Given the description of an element on the screen output the (x, y) to click on. 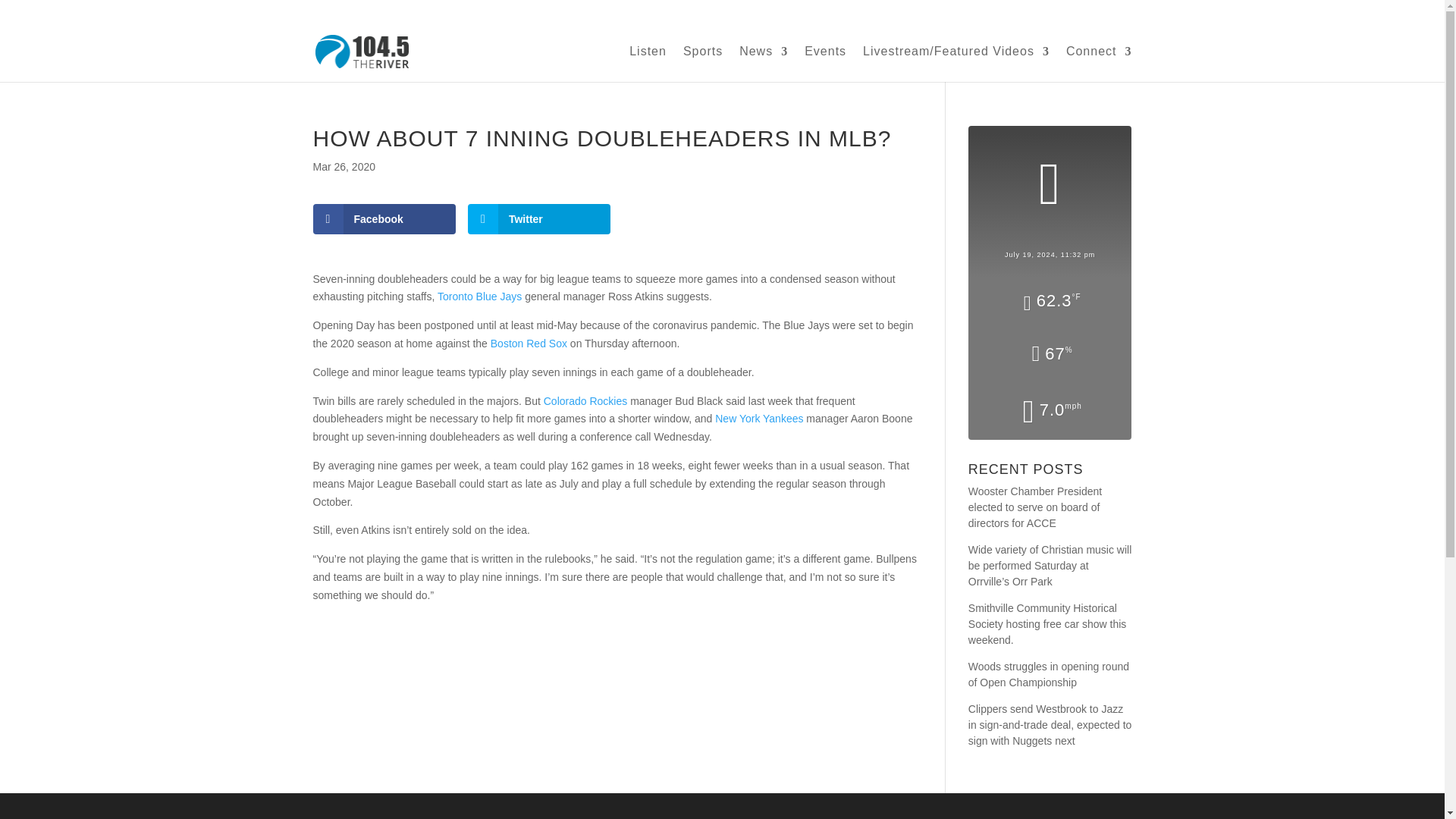
Connect (1098, 63)
Sports (702, 63)
News (763, 63)
Boston Red Sox (528, 343)
Twitter (538, 218)
Listen (647, 63)
Events (825, 63)
Colorado Rockies (585, 400)
New York Yankees (758, 418)
Facebook (383, 218)
Toronto Blue Jays (479, 296)
Woods struggles in opening round of Open Championship (1050, 675)
